Given the description of an element on the screen output the (x, y) to click on. 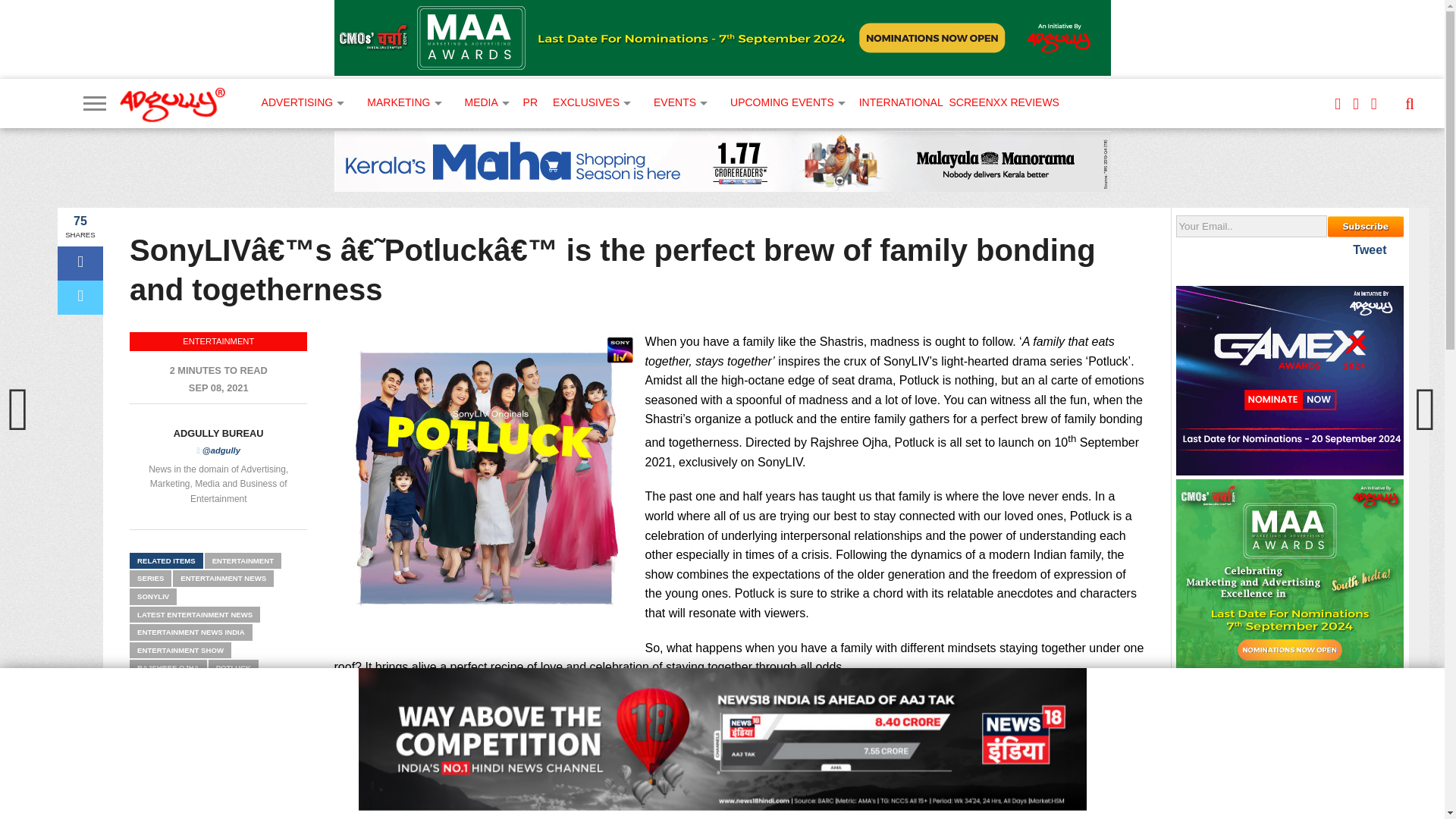
Share on Facebook (80, 263)
Tweet This Post (80, 297)
Posts by Adgully Bureau (218, 432)
Your Email.. (1251, 226)
